Given the description of an element on the screen output the (x, y) to click on. 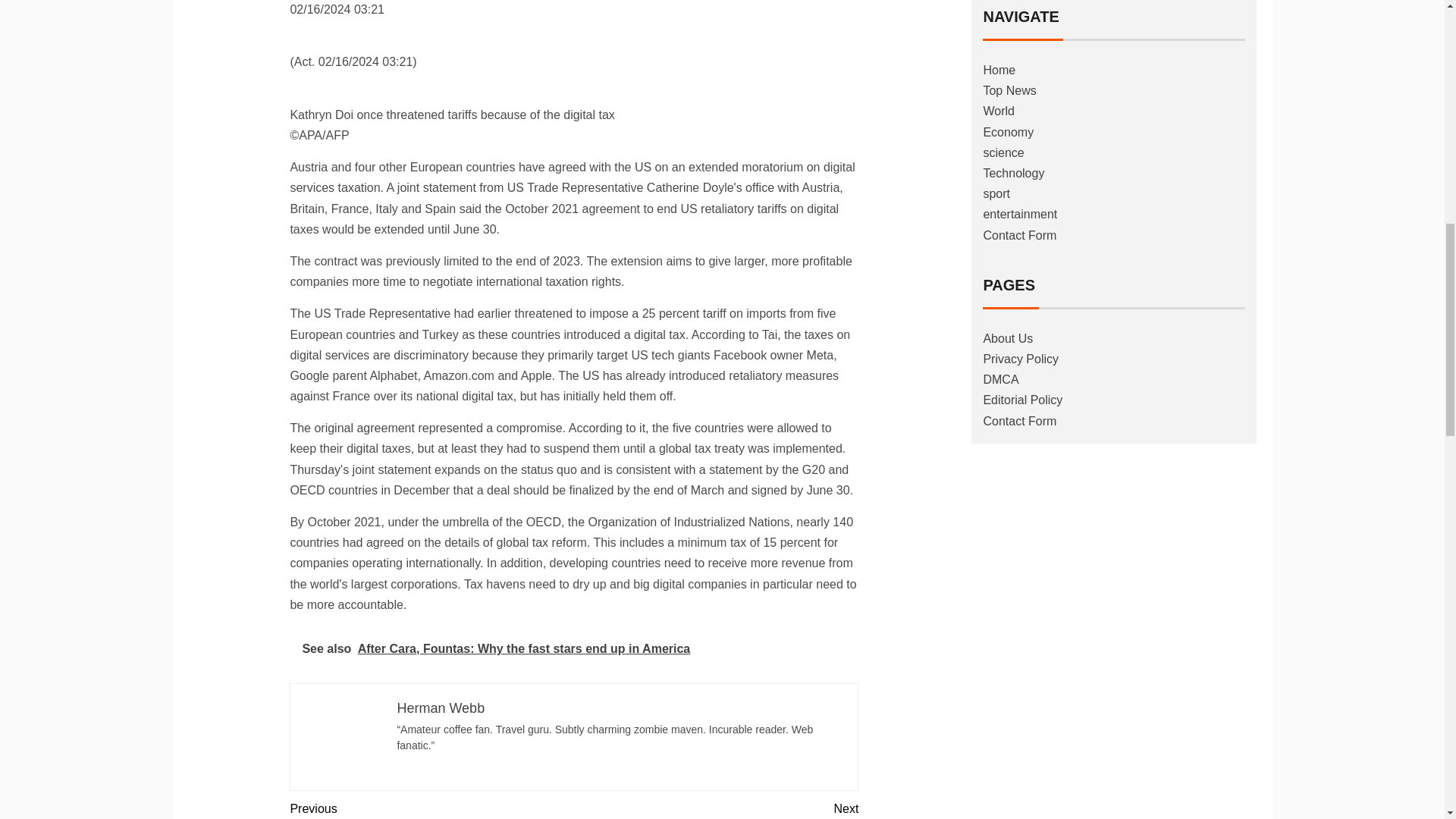
Herman Webb (440, 708)
